Given the description of an element on the screen output the (x, y) to click on. 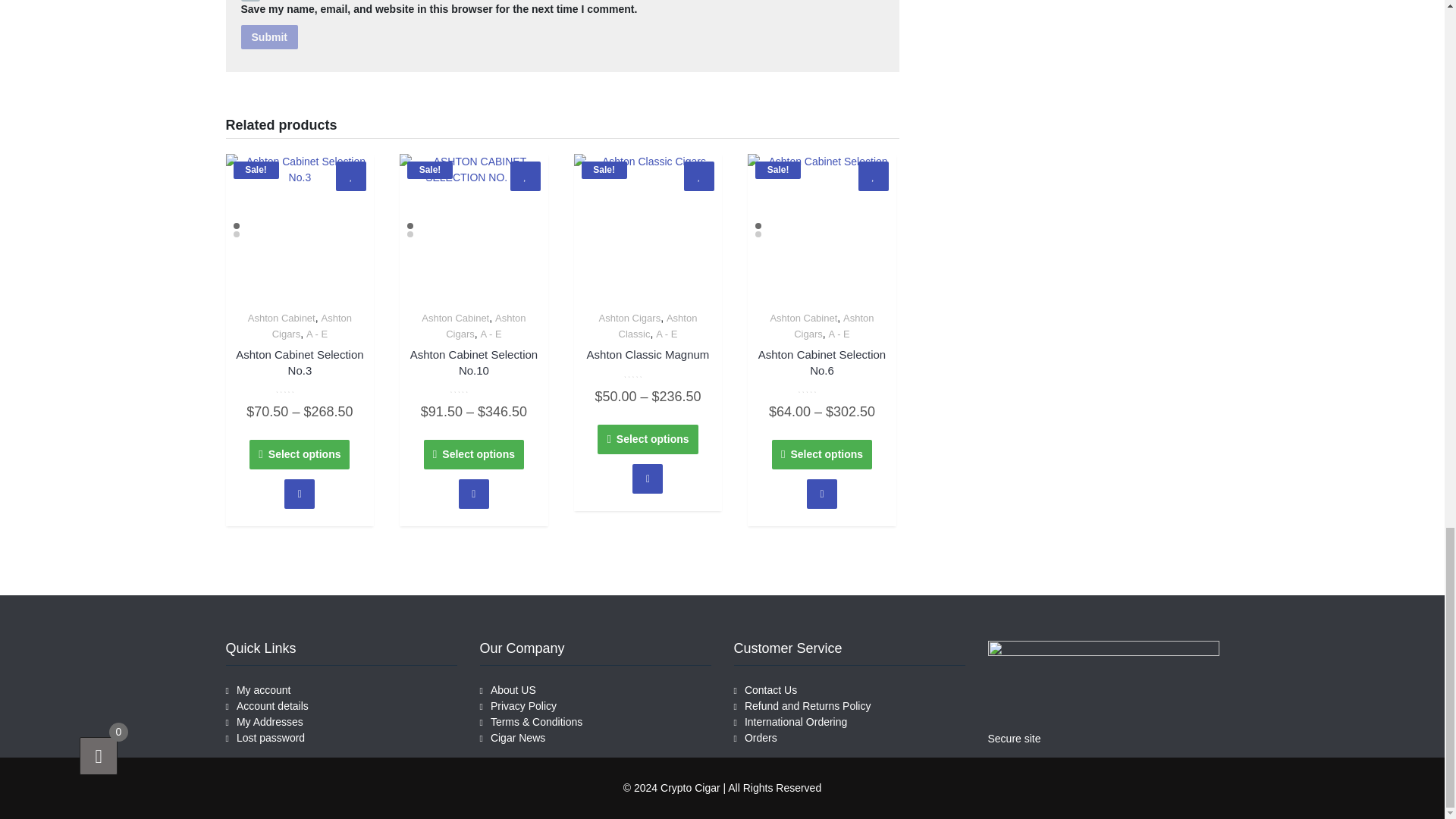
Submit (269, 36)
No Review (299, 388)
Ashton Cabinet (281, 317)
Ashton Cigars (312, 325)
Compare (298, 493)
Sale! (299, 227)
Compare (473, 493)
A - E (316, 333)
Submit (269, 36)
